Given the description of an element on the screen output the (x, y) to click on. 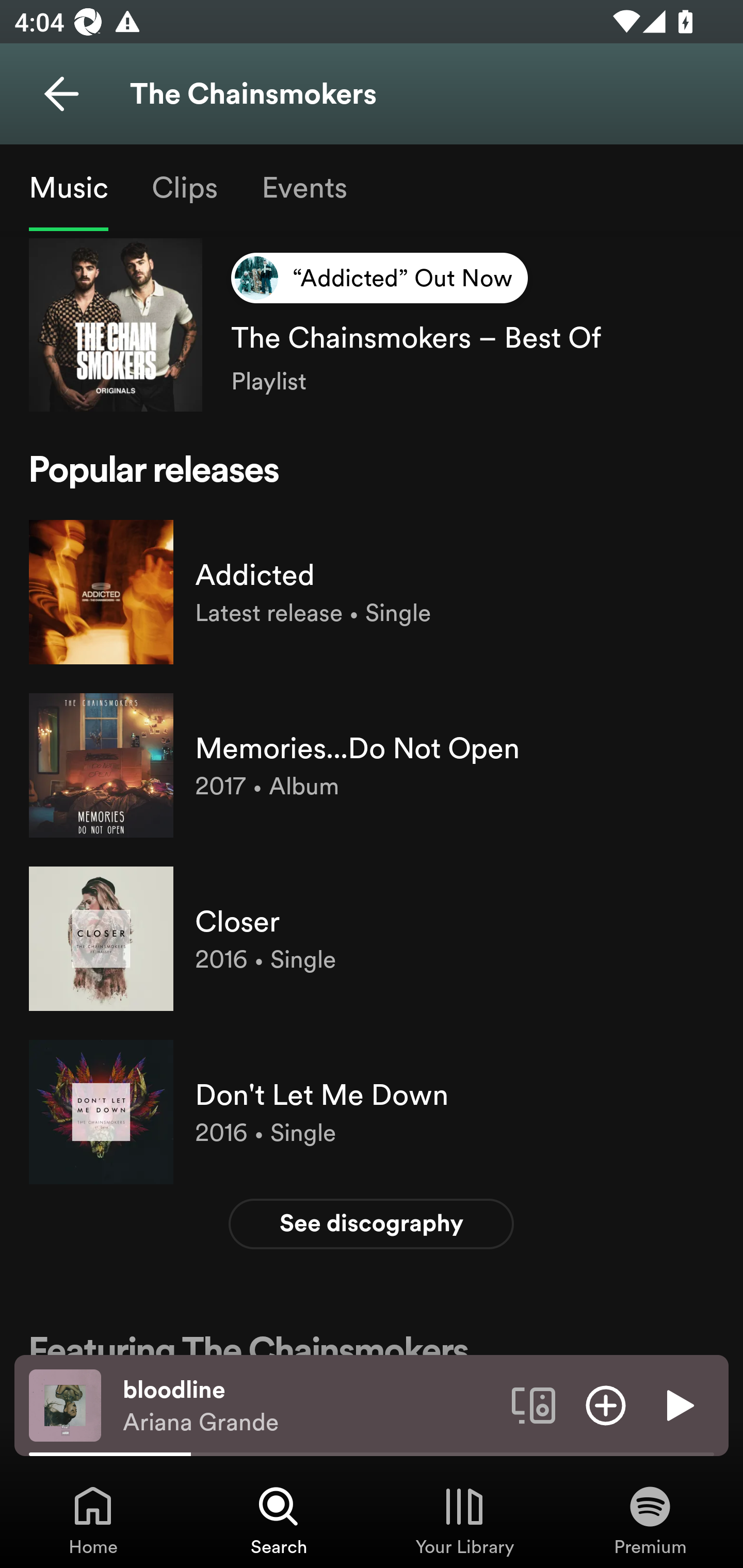
Back (60, 93)
Clips (184, 187)
Events (303, 187)
Addicted Latest release • Single (371, 591)
Memories...Do Not Open 2017 • Album (371, 764)
Closer 2016 • Single (371, 938)
Don't Let Me Down 2016 • Single (371, 1111)
See discography (371, 1223)
bloodline Ariana Grande (309, 1405)
The cover art of the currently playing track (64, 1404)
Connect to a device. Opens the devices menu (533, 1404)
Add item (605, 1404)
Play (677, 1404)
Home, Tab 1 of 4 Home Home (92, 1519)
Search, Tab 2 of 4 Search Search (278, 1519)
Your Library, Tab 3 of 4 Your Library Your Library (464, 1519)
Premium, Tab 4 of 4 Premium Premium (650, 1519)
